Given the description of an element on the screen output the (x, y) to click on. 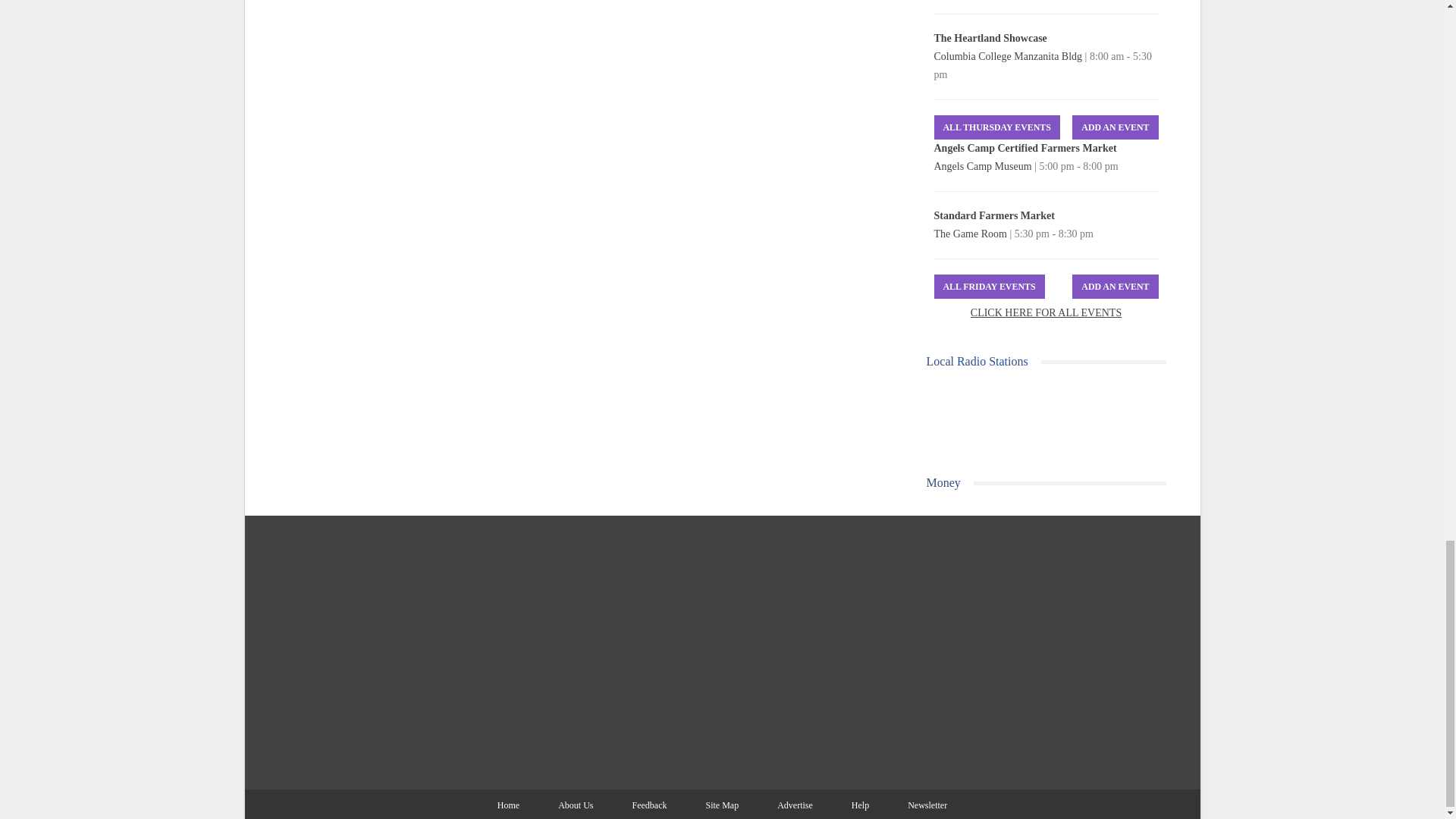
Add An Event (1114, 127)
All Friday Events (989, 286)
Add An Event (1114, 286)
All Thursday Events (996, 127)
